Given the description of an element on the screen output the (x, y) to click on. 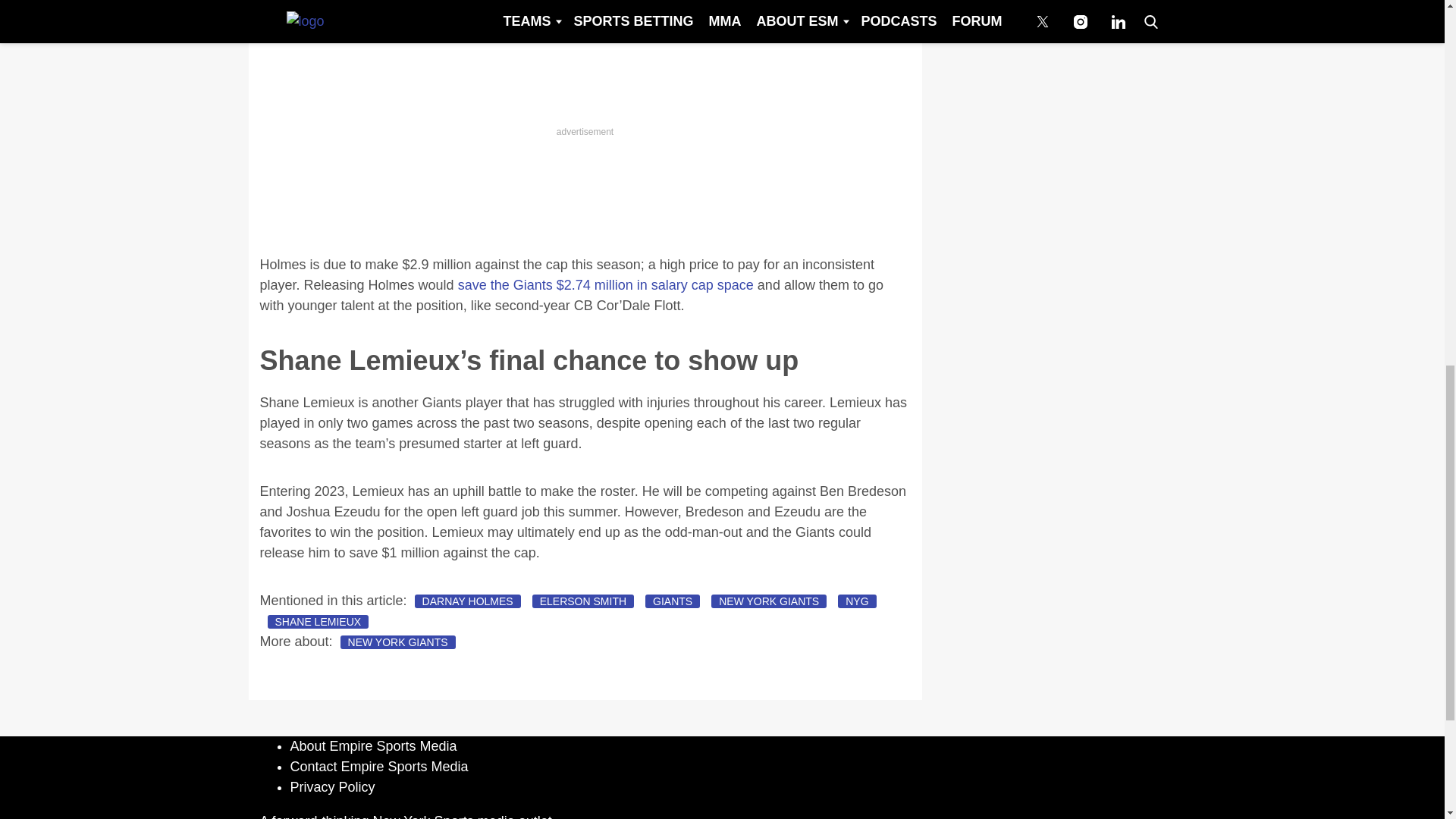
NEW YORK GIANTS (769, 601)
ELERSON SMITH (582, 601)
NYG (857, 601)
GIANTS (672, 601)
NEW YORK GIANTS (397, 642)
SHANE LEMIEUX (317, 621)
DARNAY HOLMES (467, 601)
